Given the description of an element on the screen output the (x, y) to click on. 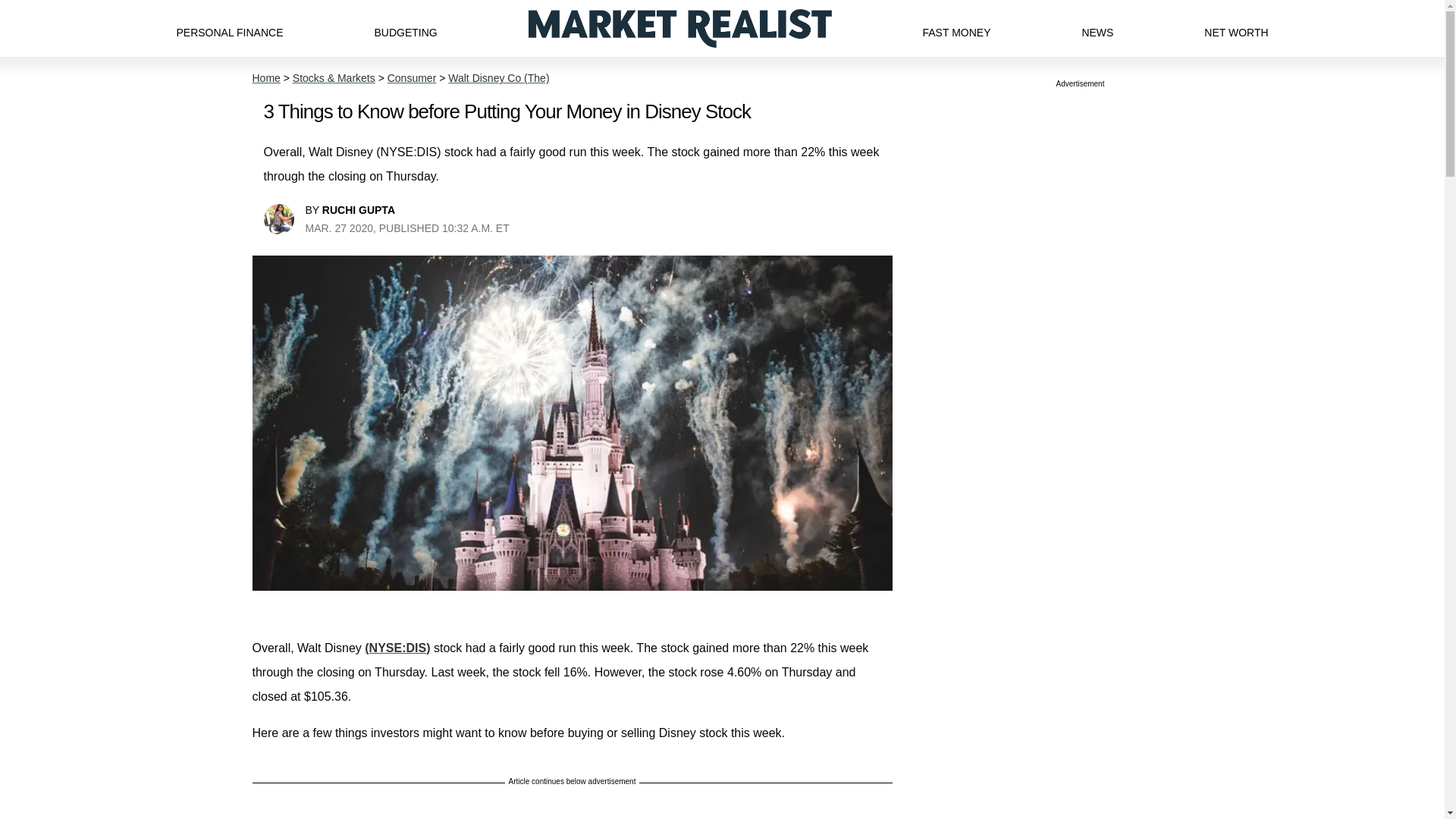
FAST MONEY (955, 27)
NET WORTH (1236, 27)
PERSONAL FINANCE (229, 27)
NEWS (1097, 27)
BUDGETING (405, 27)
Consumer (411, 78)
RUCHI GUPTA (357, 209)
Home (265, 78)
